Given the description of an element on the screen output the (x, y) to click on. 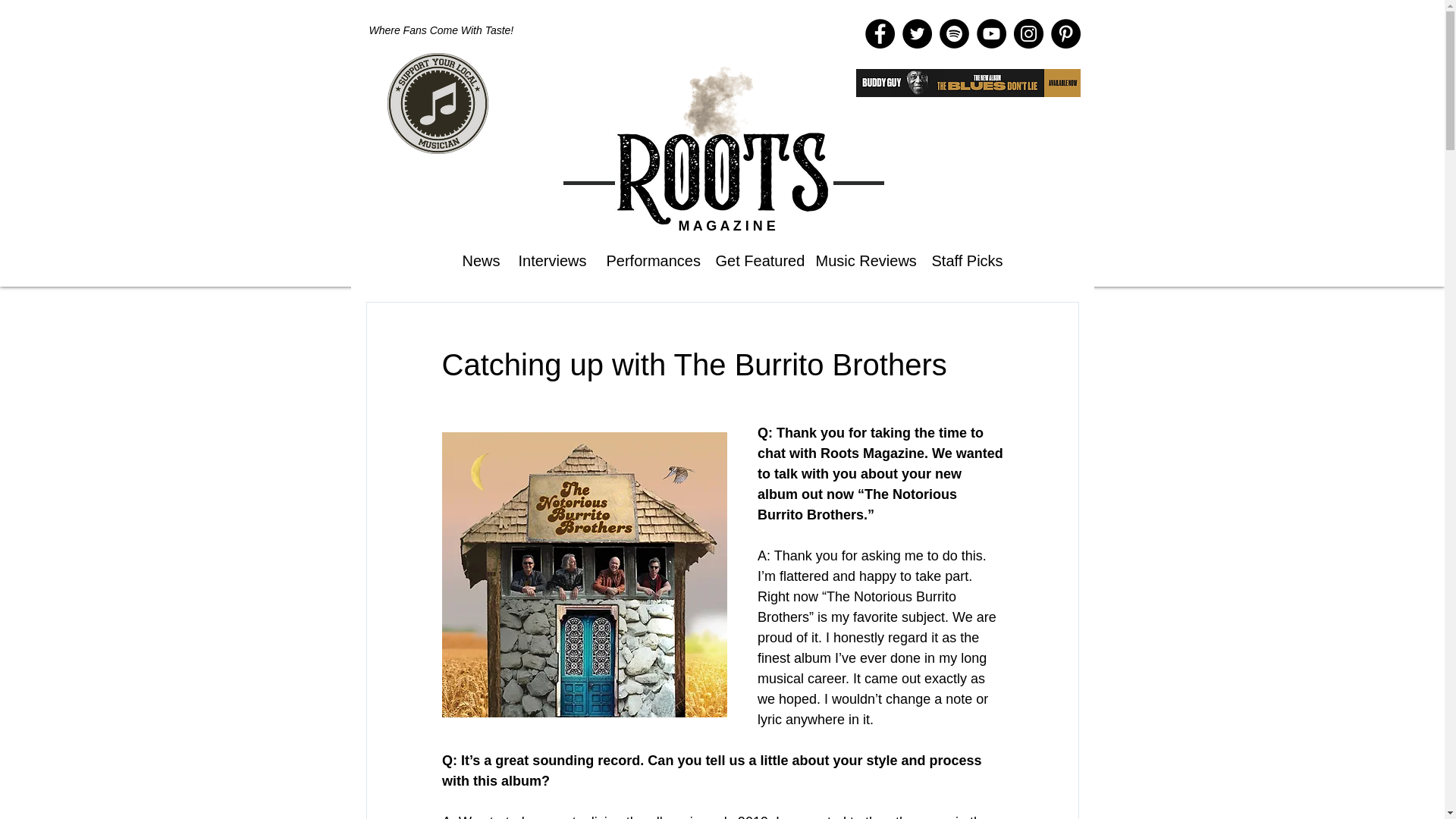
Staff Picks (963, 258)
Interviews (550, 258)
Music Reviews (861, 258)
News (477, 258)
Performances (648, 258)
Get Featured (753, 258)
